Given the description of an element on the screen output the (x, y) to click on. 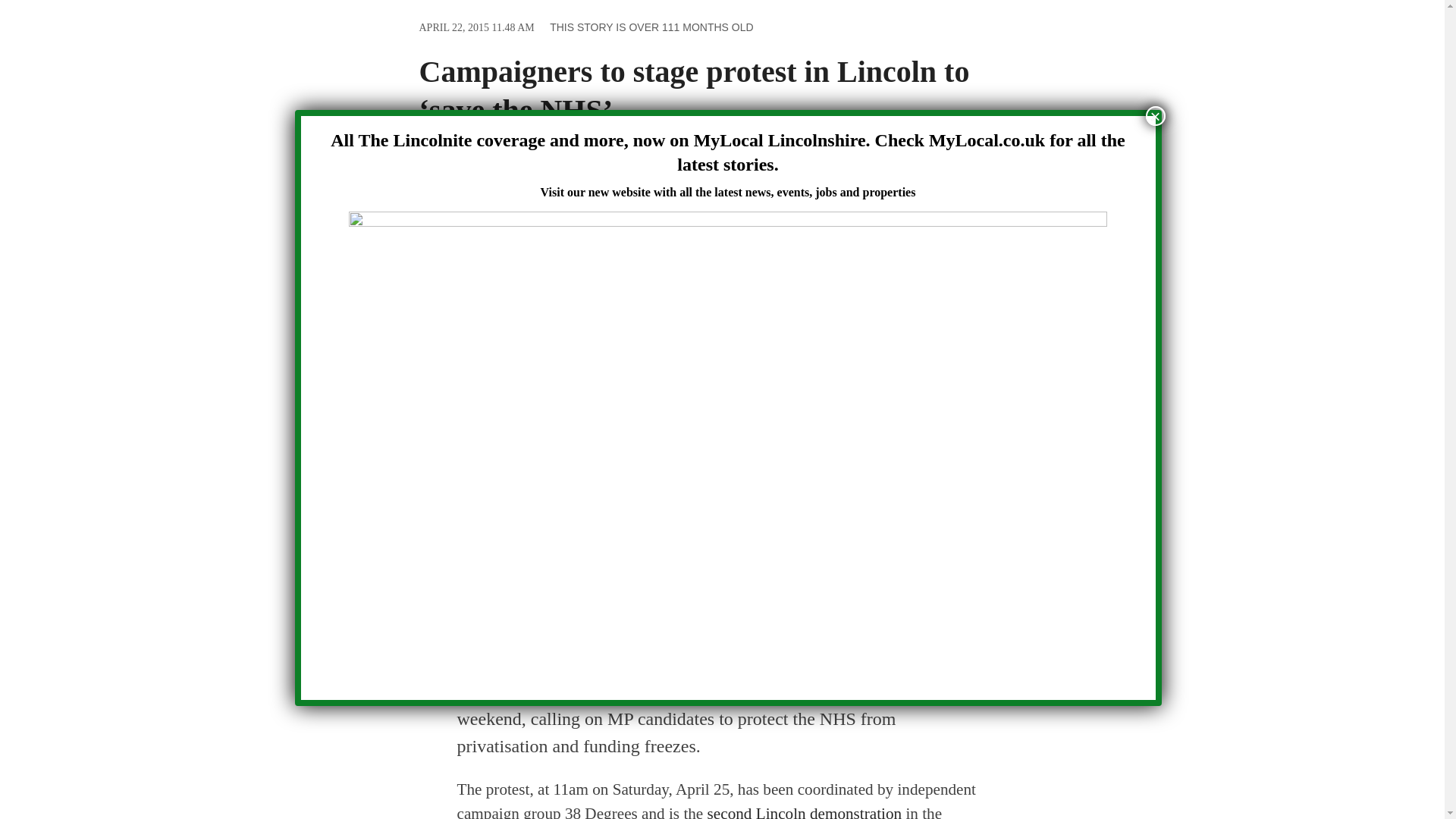
Contact author (672, 640)
